Given the description of an element on the screen output the (x, y) to click on. 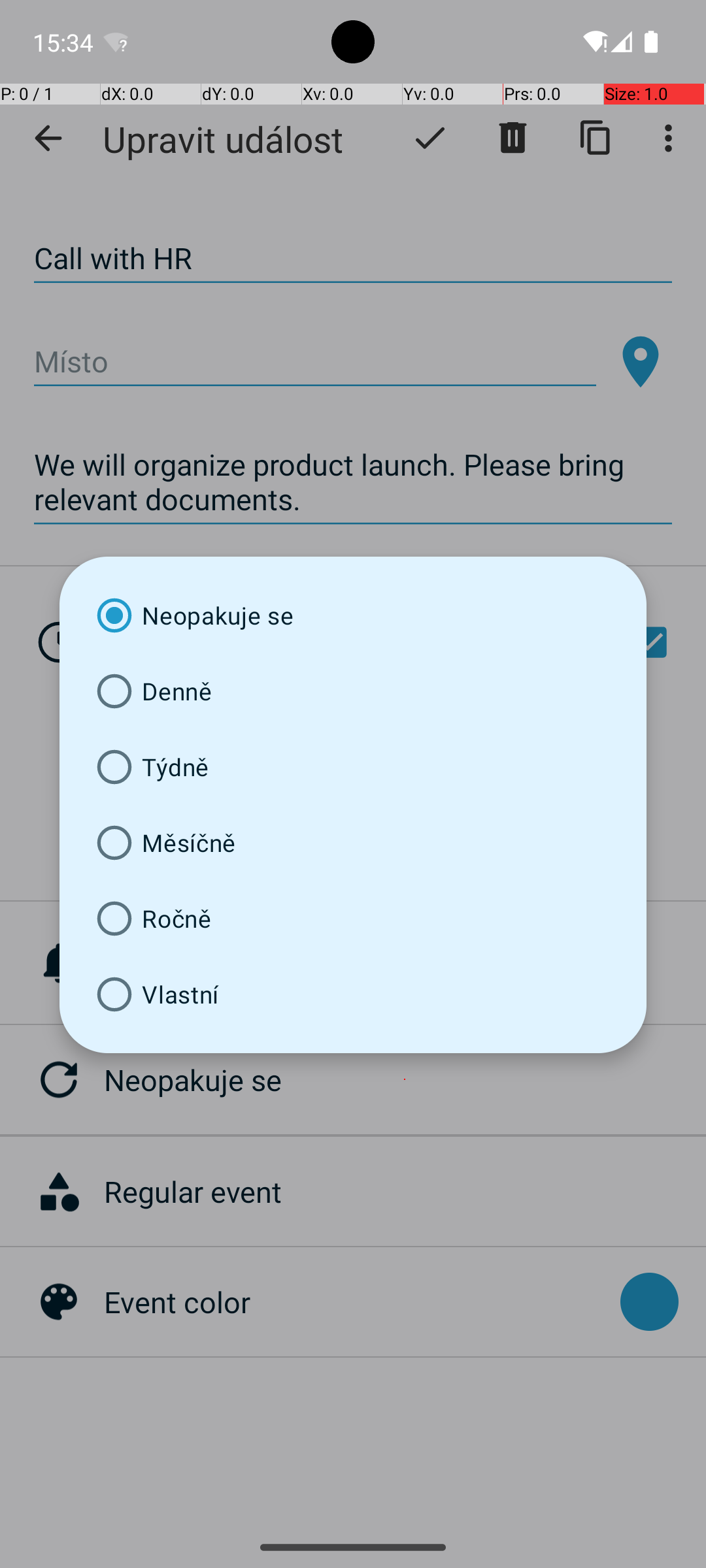
Neopakuje se Element type: android.widget.RadioButton (352, 615)
Denně Element type: android.widget.RadioButton (352, 691)
Týdně Element type: android.widget.RadioButton (352, 766)
Měsíčně Element type: android.widget.RadioButton (352, 842)
Ročně Element type: android.widget.RadioButton (352, 918)
Vlastní Element type: android.widget.RadioButton (352, 994)
